Given the description of an element on the screen output the (x, y) to click on. 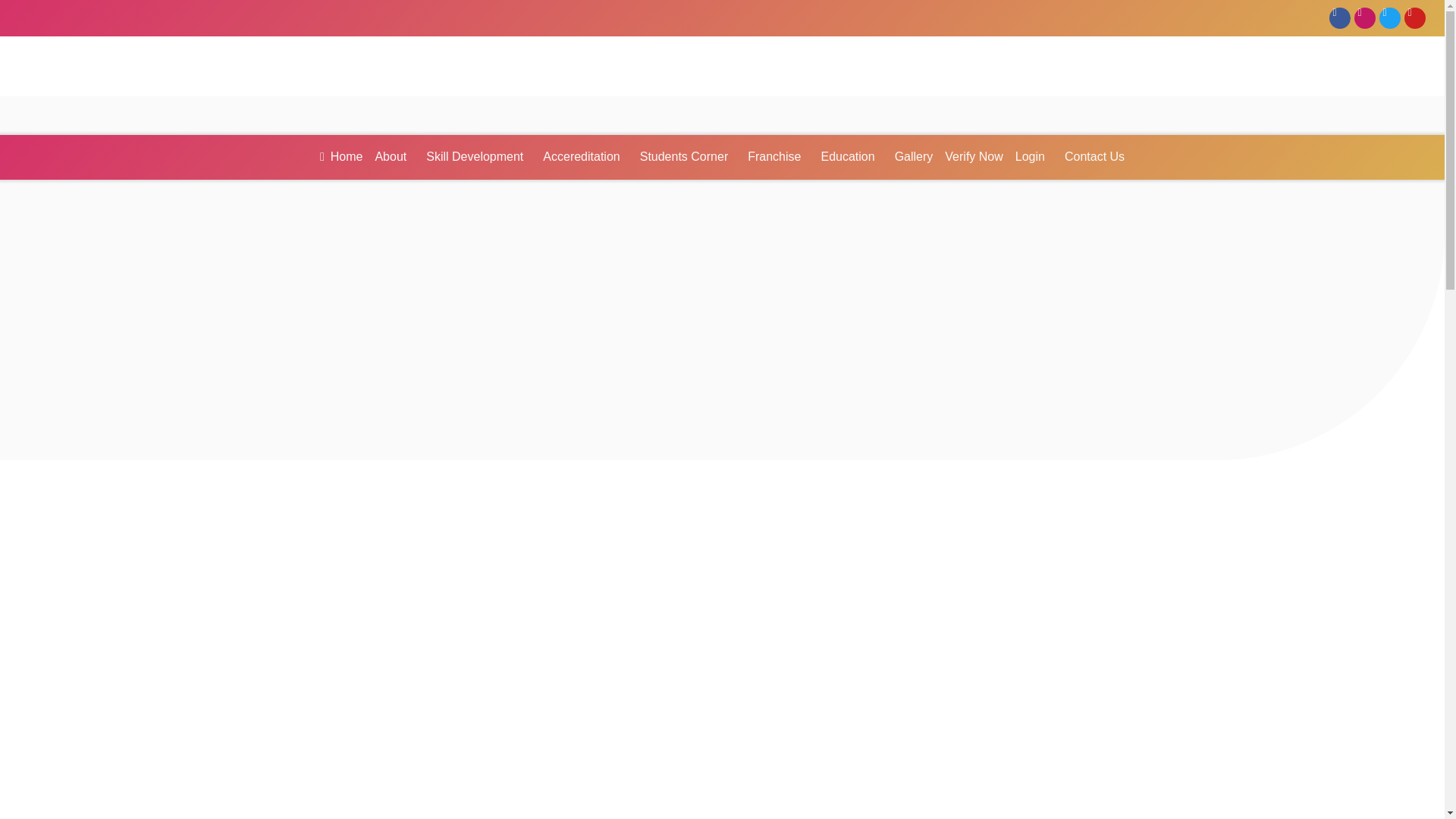
About (393, 156)
Franchise (777, 156)
Accereditation (585, 156)
Students Corner (688, 156)
Education (850, 156)
Skill Development (478, 156)
  Home (341, 156)
